Given the description of an element on the screen output the (x, y) to click on. 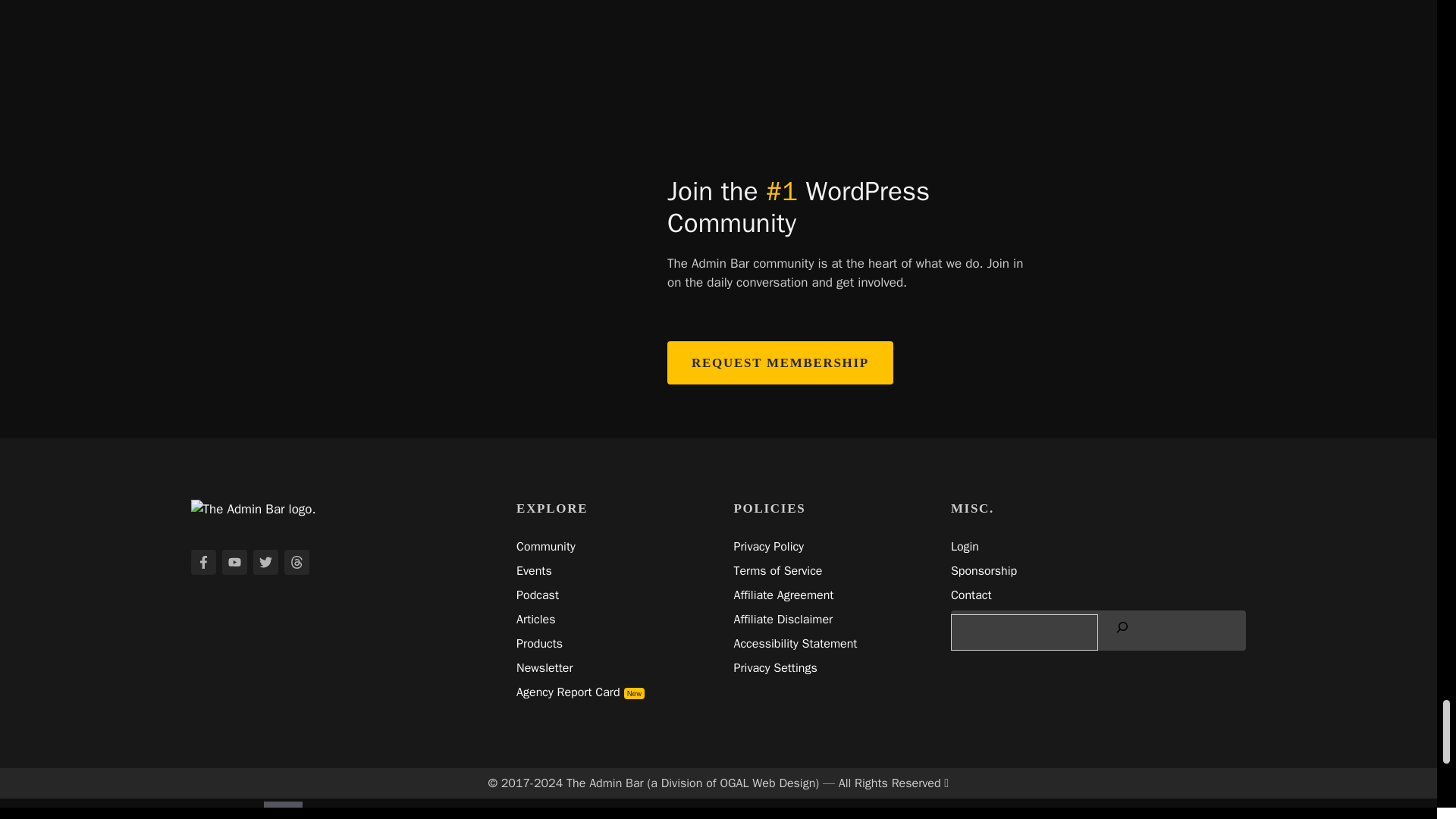
TAB Logo (252, 509)
tab-phone-4k-member-1 (519, 279)
